Given the description of an element on the screen output the (x, y) to click on. 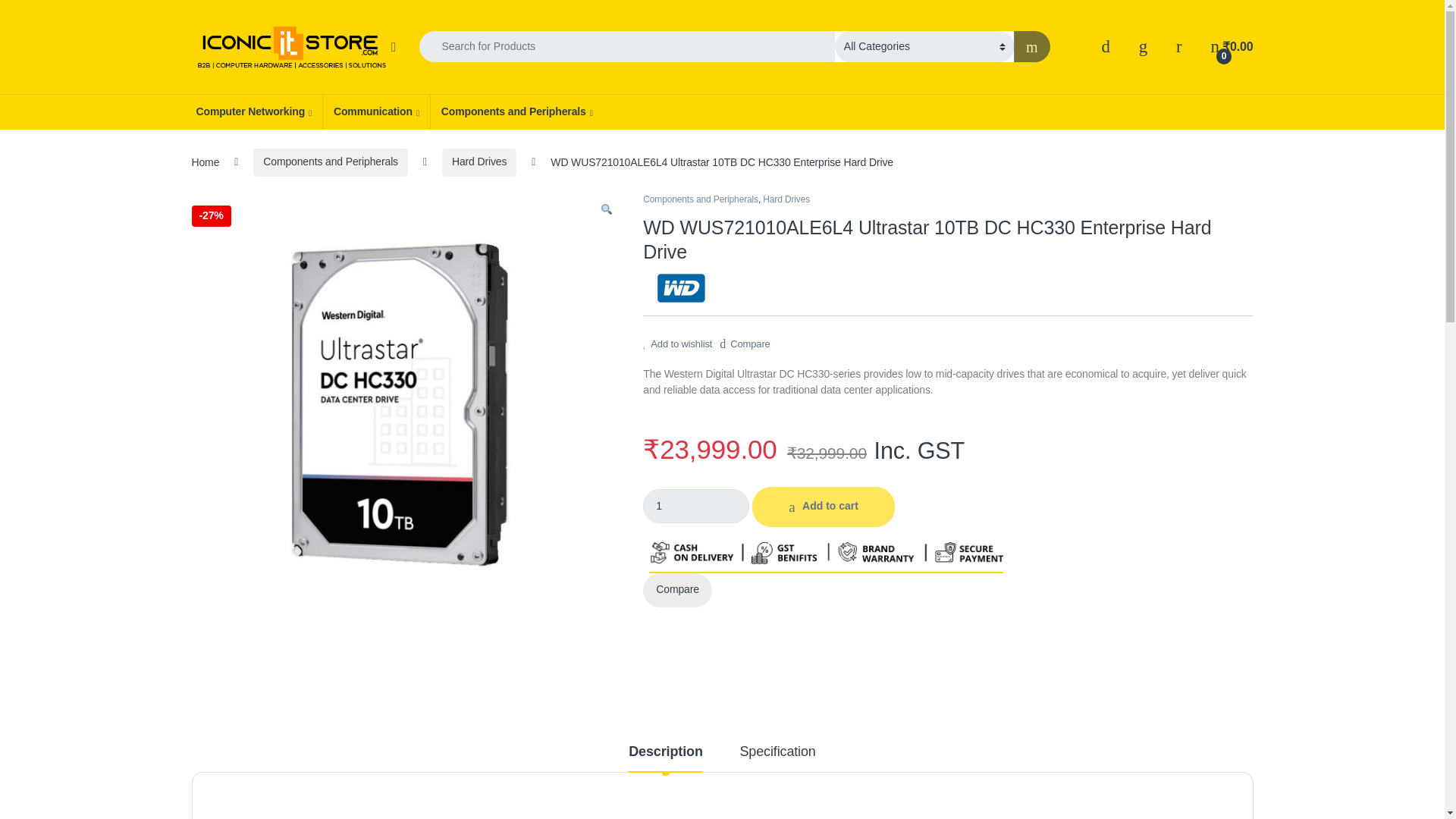
1 (696, 505)
Computer Networking (252, 112)
Communication (375, 112)
Components and Peripherals (516, 112)
